Given the description of an element on the screen output the (x, y) to click on. 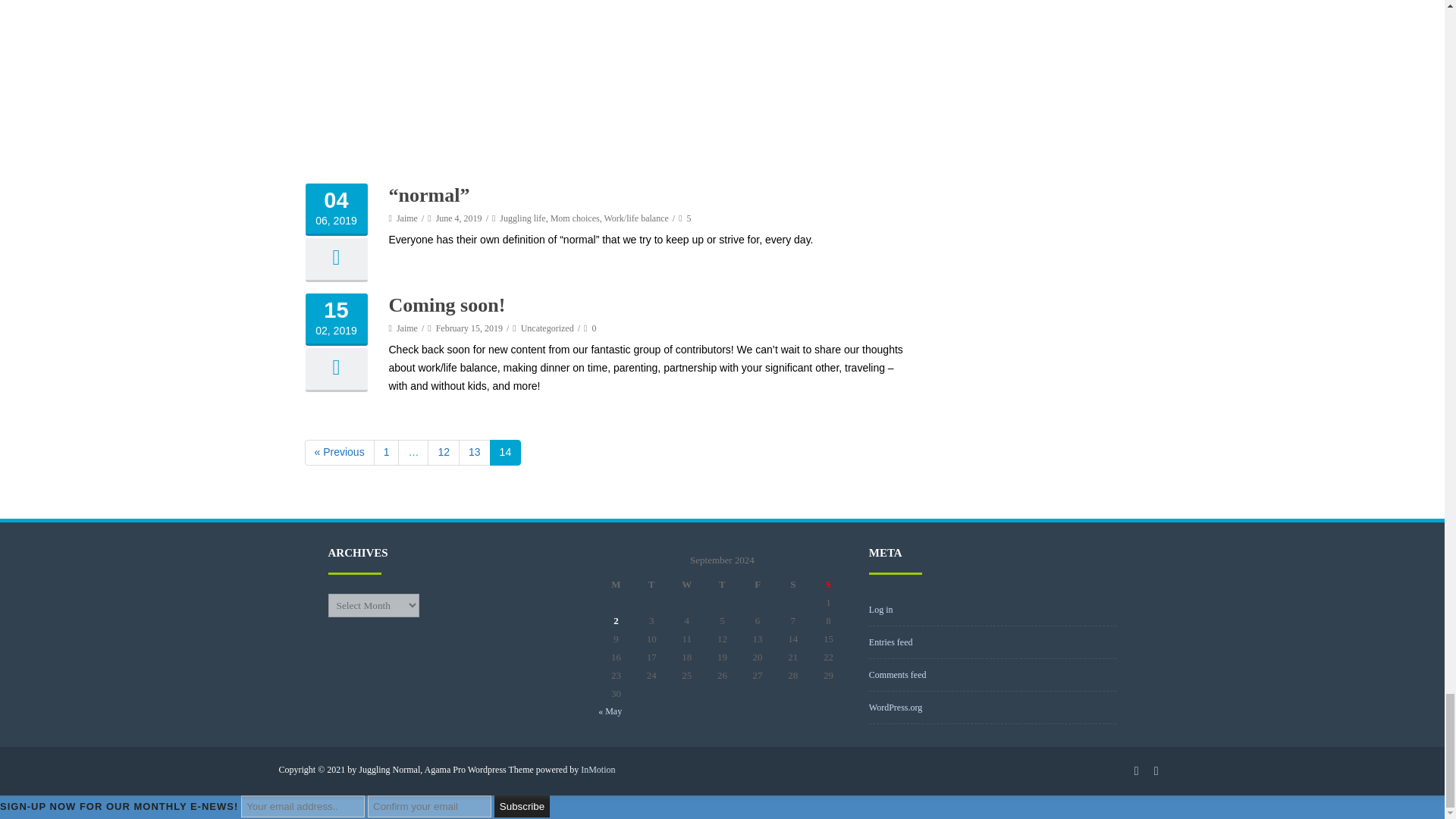
Subscribe (522, 806)
Monday (615, 584)
Friday (757, 584)
Saturday (792, 584)
Tuesday (651, 584)
Thursday (721, 584)
Sunday (827, 584)
Wednesday (686, 584)
